Given the description of an element on the screen output the (x, y) to click on. 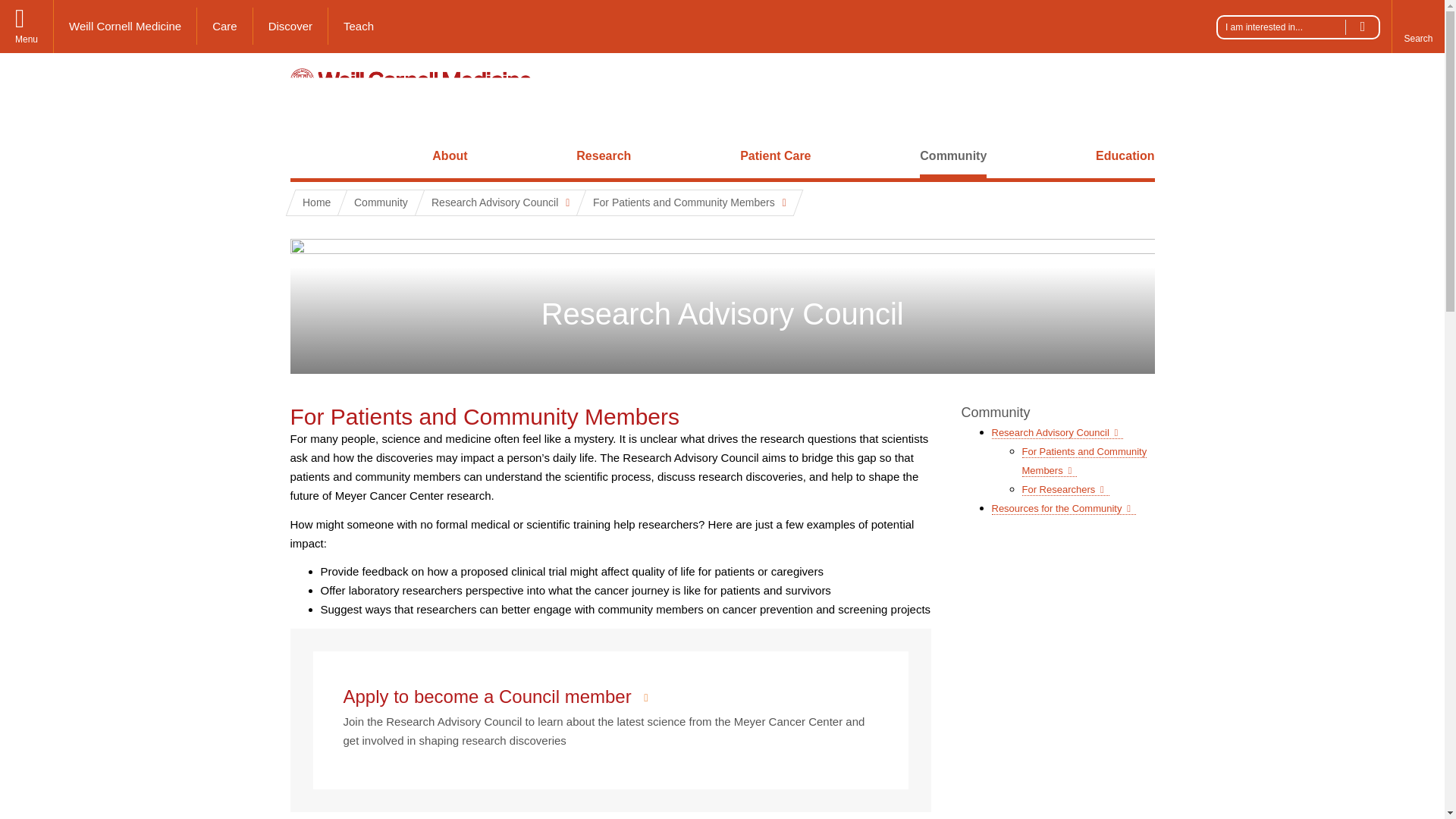
Care (224, 26)
Discover (291, 26)
Weill Cornell Medicine (124, 26)
I am interested in... (1297, 27)
Teach (358, 26)
